Given the description of an element on the screen output the (x, y) to click on. 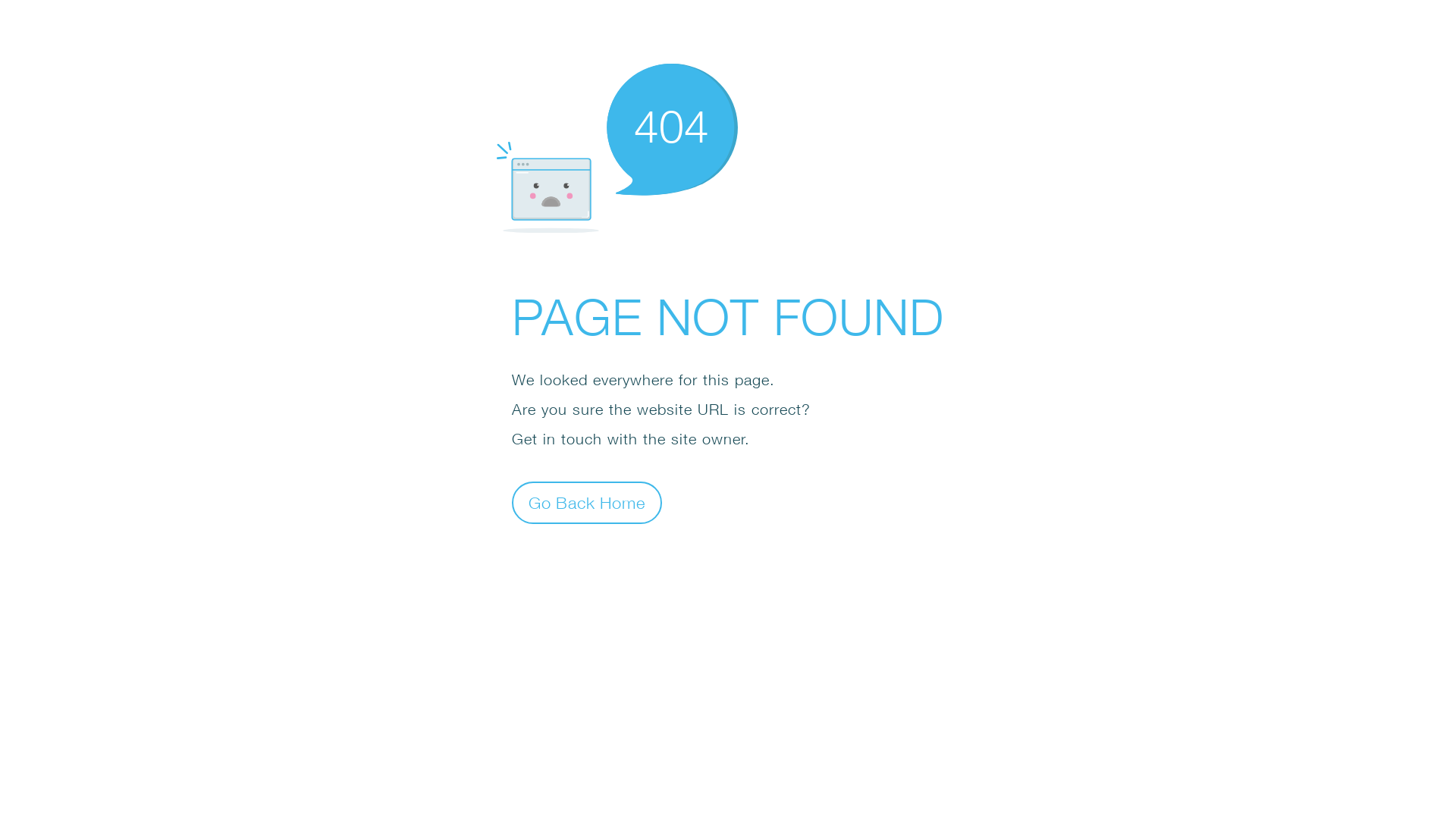
Go Back Home Element type: text (586, 502)
